Given the description of an element on the screen output the (x, y) to click on. 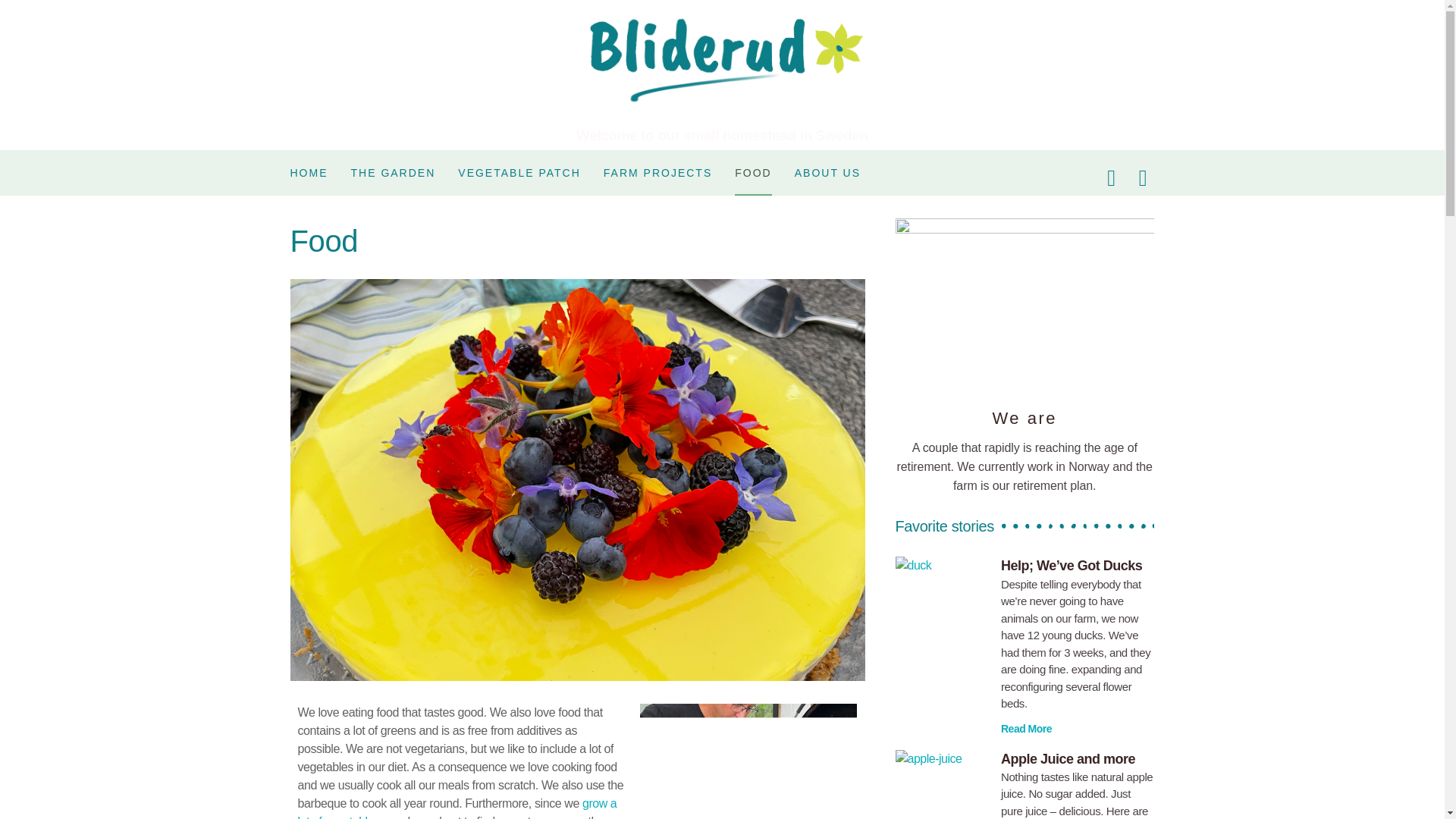
grow a lot of vegetables (456, 807)
FARM PROJECTS (657, 172)
VEGETABLE PATCH (518, 172)
ABOUT US (827, 172)
THE GARDEN (392, 172)
